Given the description of an element on the screen output the (x, y) to click on. 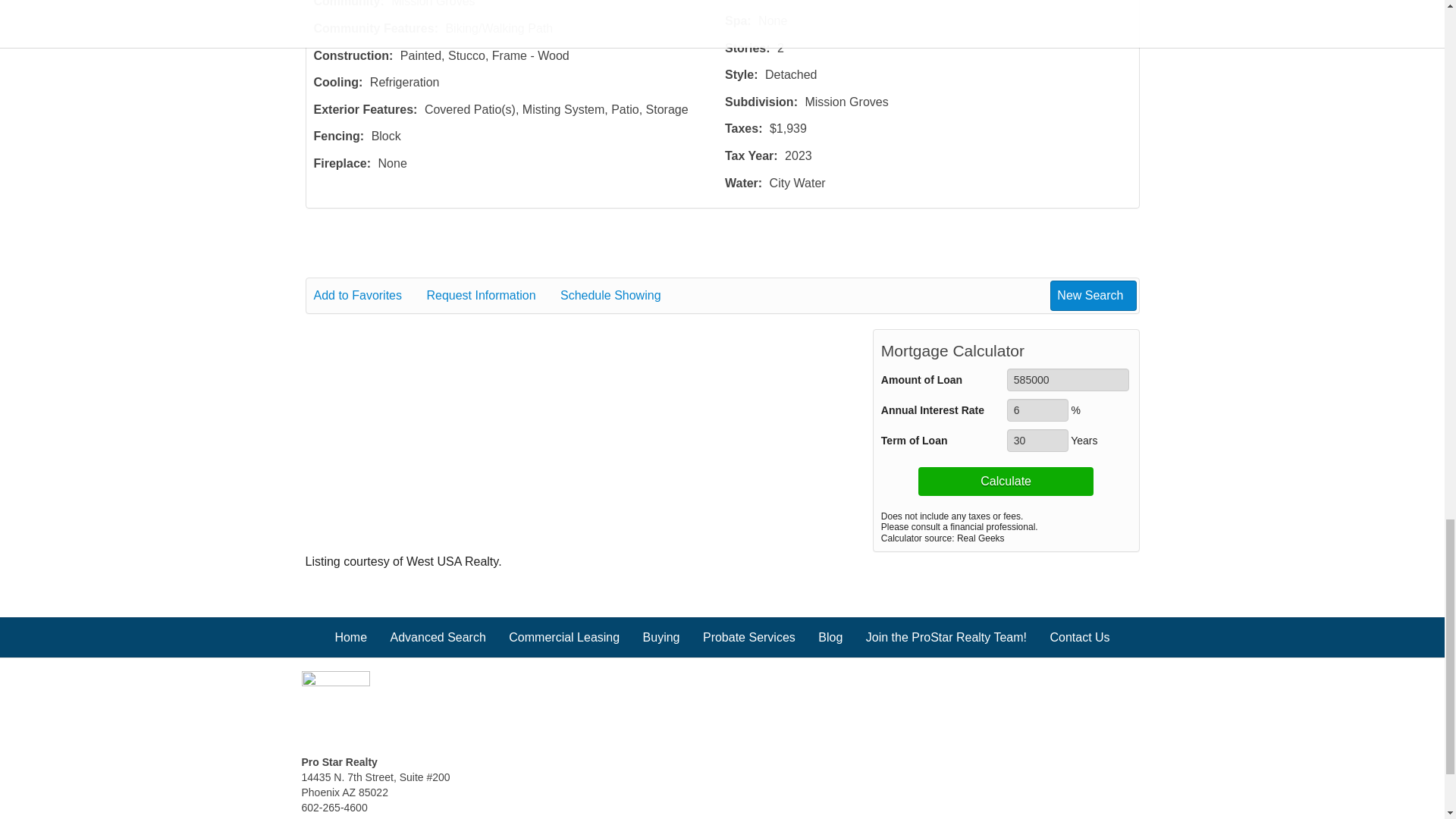
30 (1037, 440)
6 (1037, 409)
585000 (1068, 379)
